Given the description of an element on the screen output the (x, y) to click on. 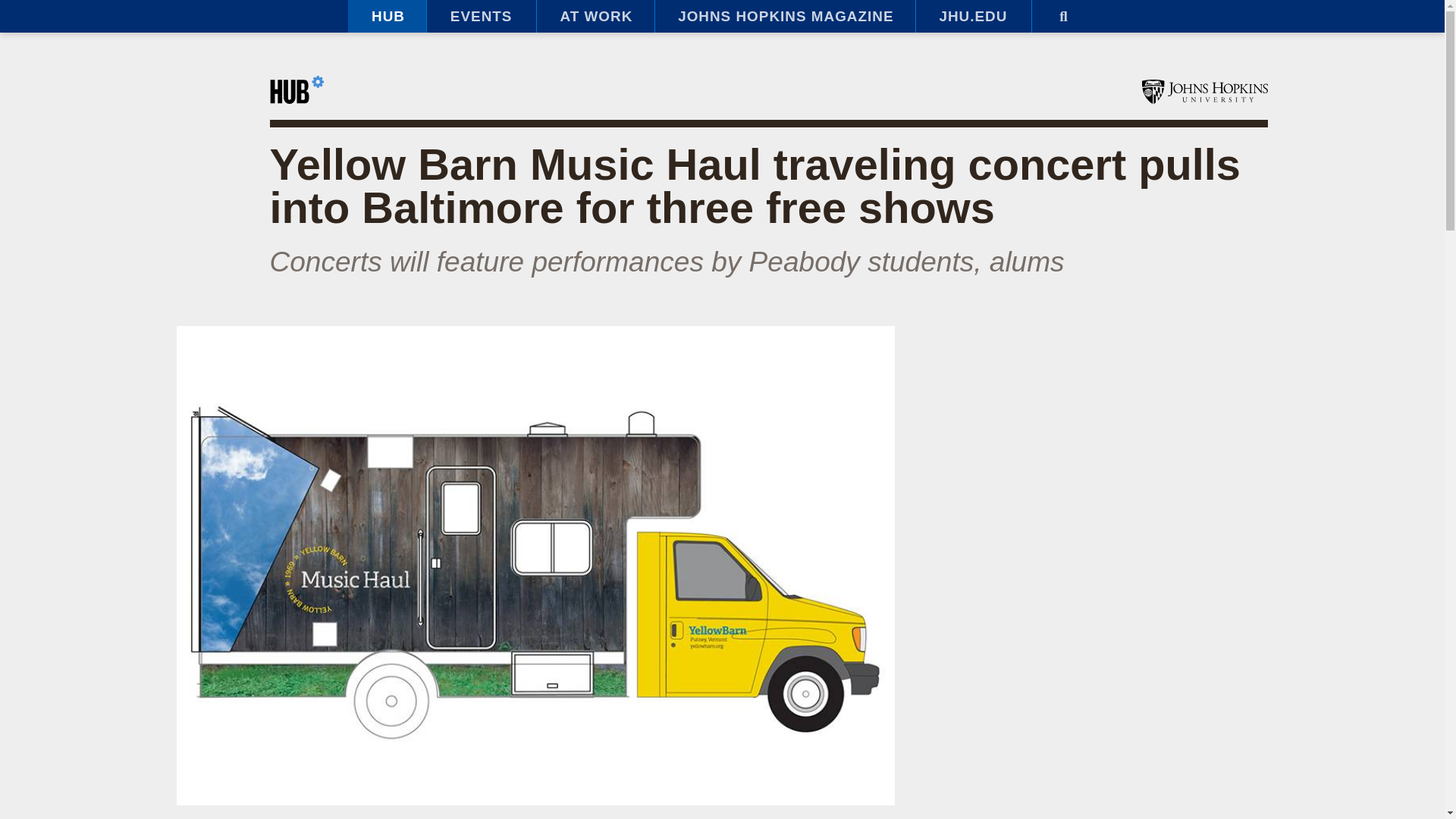
HUB (386, 16)
JHU.EDU (972, 16)
AT WORK (594, 16)
Johns Hopkins University (1204, 91)
JOHNS HOPKINS MAGAZINE (784, 16)
EVENTS (480, 16)
